Given the description of an element on the screen output the (x, y) to click on. 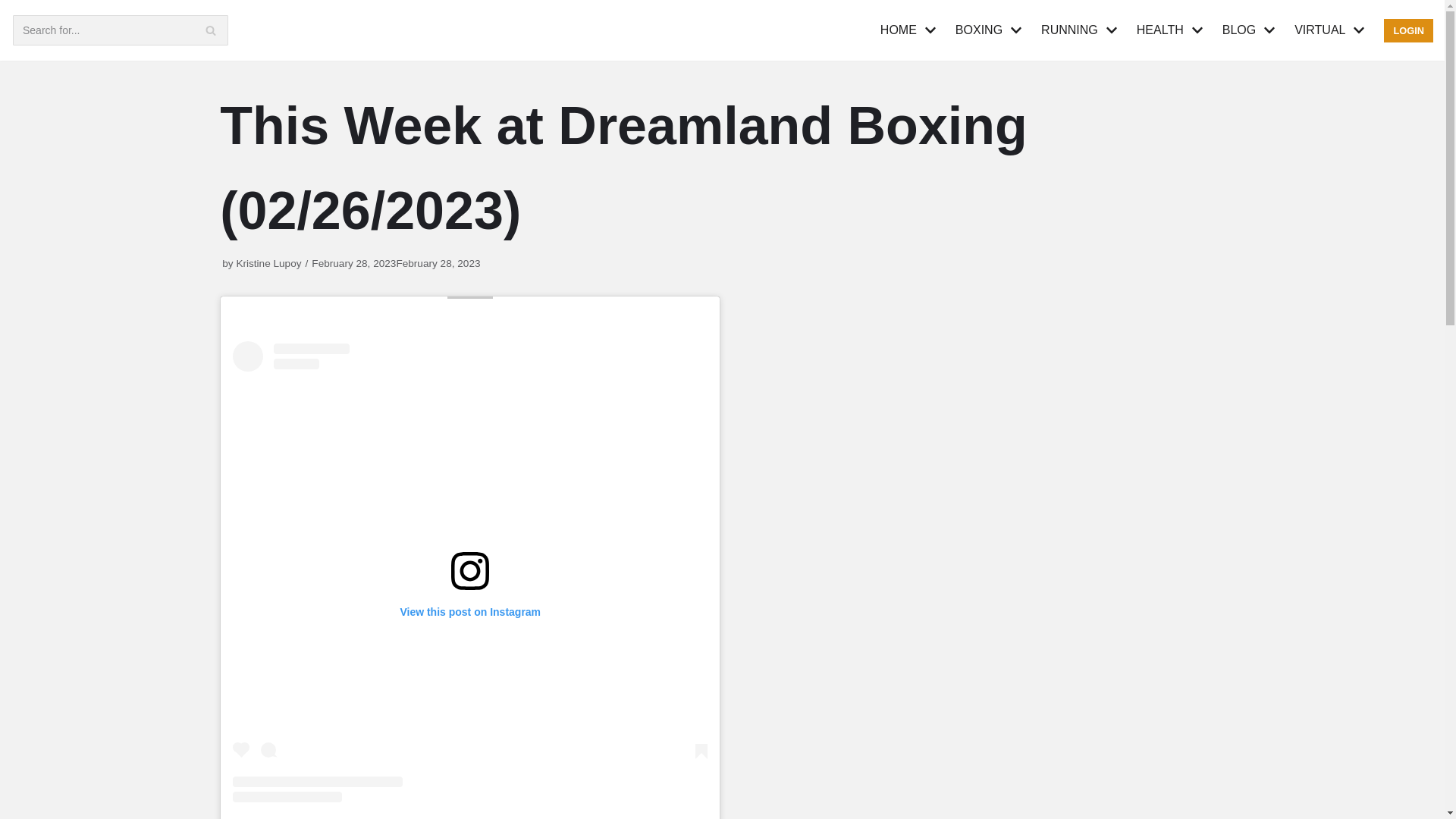
VIRTUAL (1331, 30)
HOME (910, 30)
BOXING (990, 30)
Posts by Kristine Lupoy (268, 263)
BLOG (1251, 30)
LOGIN (1408, 29)
HEALTH (1172, 30)
RUNNING (1081, 30)
Skip to content (15, 7)
